Given the description of an element on the screen output the (x, y) to click on. 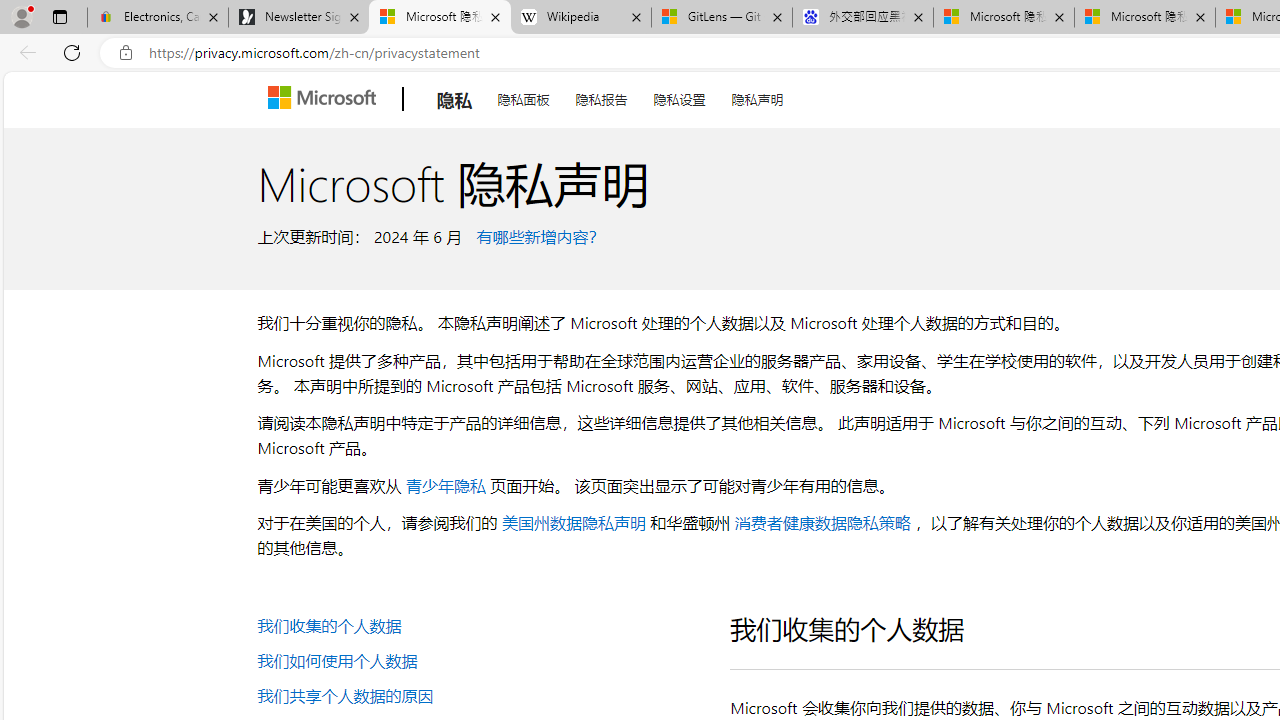
Newsletter Sign Up (298, 17)
Wikipedia (580, 17)
